Given the description of an element on the screen output the (x, y) to click on. 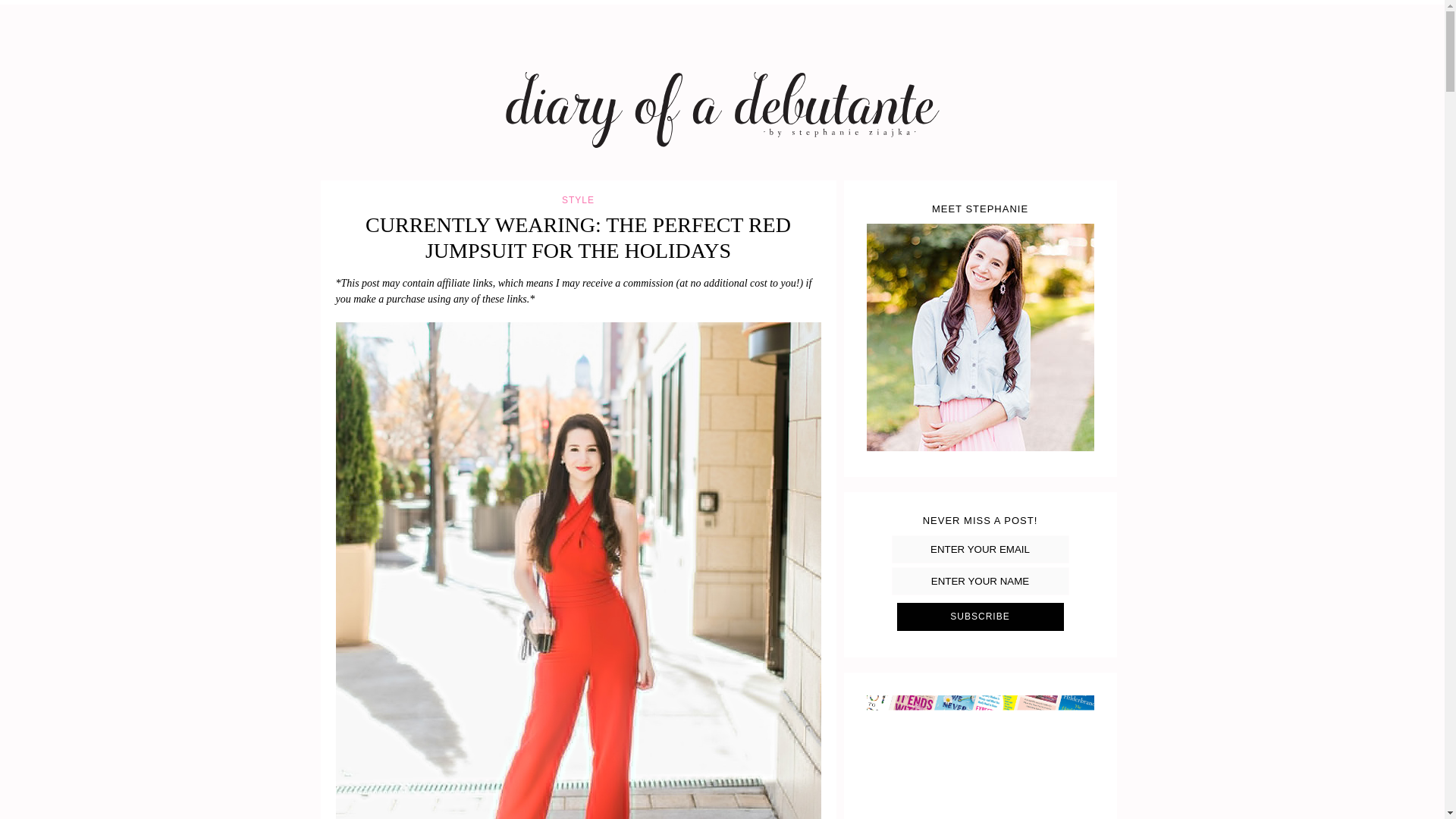
ENTER YOUR NAME (979, 581)
Diary of a Debutante (494, 234)
STYLE (518, 2)
LIVING (758, 2)
ENTERTAINING (599, 2)
HOLIDAYS (687, 2)
ABOUT (457, 2)
Subscribe (979, 616)
ENTER YOUR EMAIL (979, 549)
